Given the description of an element on the screen output the (x, y) to click on. 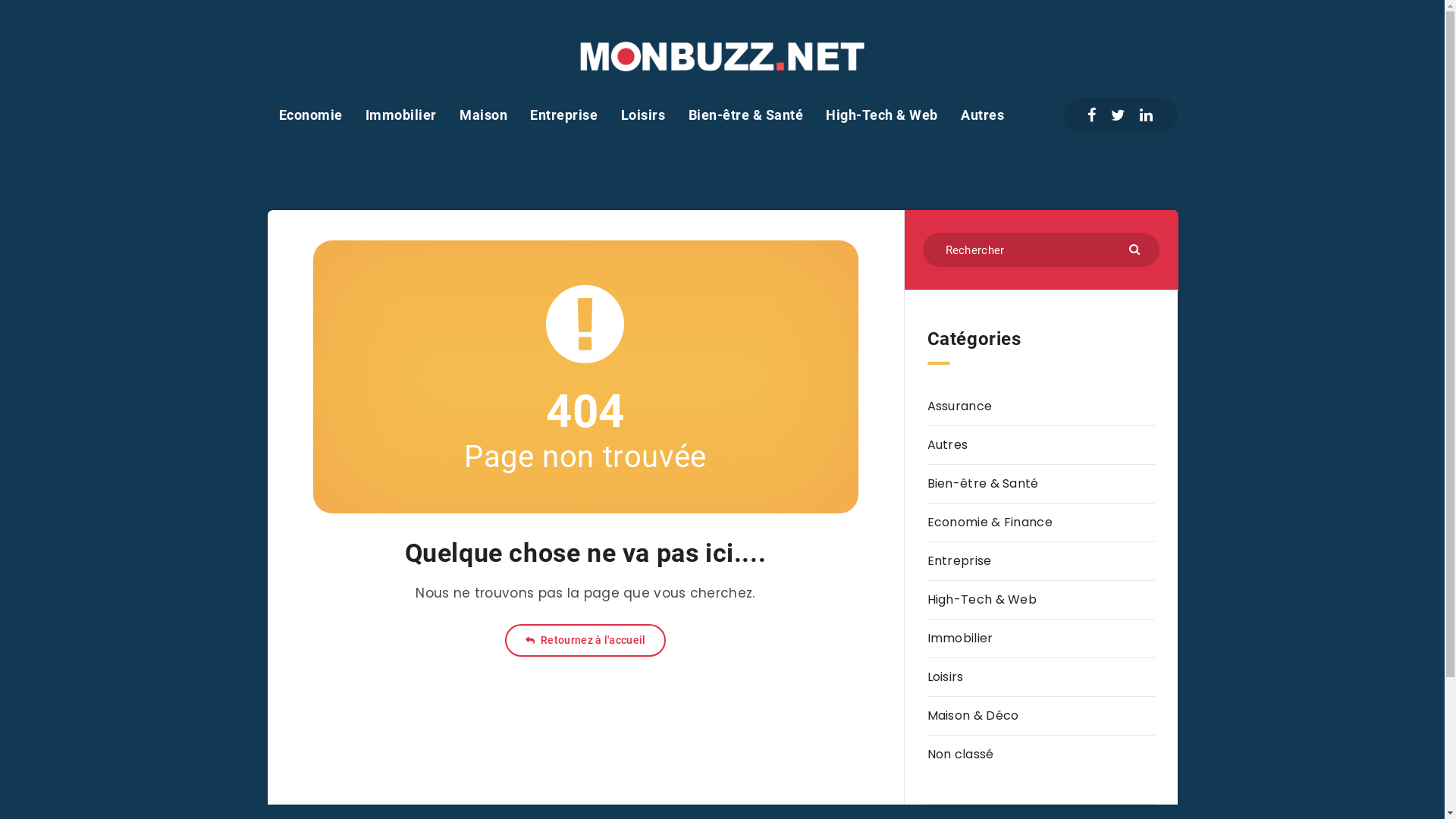
Economie & Finance Element type: text (988, 522)
Assurance Element type: text (958, 406)
Maison Element type: text (483, 115)
High-Tech & Web Element type: text (881, 115)
Autres Element type: text (982, 115)
High-Tech & Web Element type: text (981, 599)
Immobilier Element type: text (959, 638)
Economie Element type: text (310, 115)
Entreprise Element type: text (958, 560)
Immobilier Element type: text (400, 115)
Loisirs Element type: text (643, 115)
Autres Element type: text (946, 444)
Loisirs Element type: text (944, 676)
Entreprise Element type: text (563, 115)
